Given the description of an element on the screen output the (x, y) to click on. 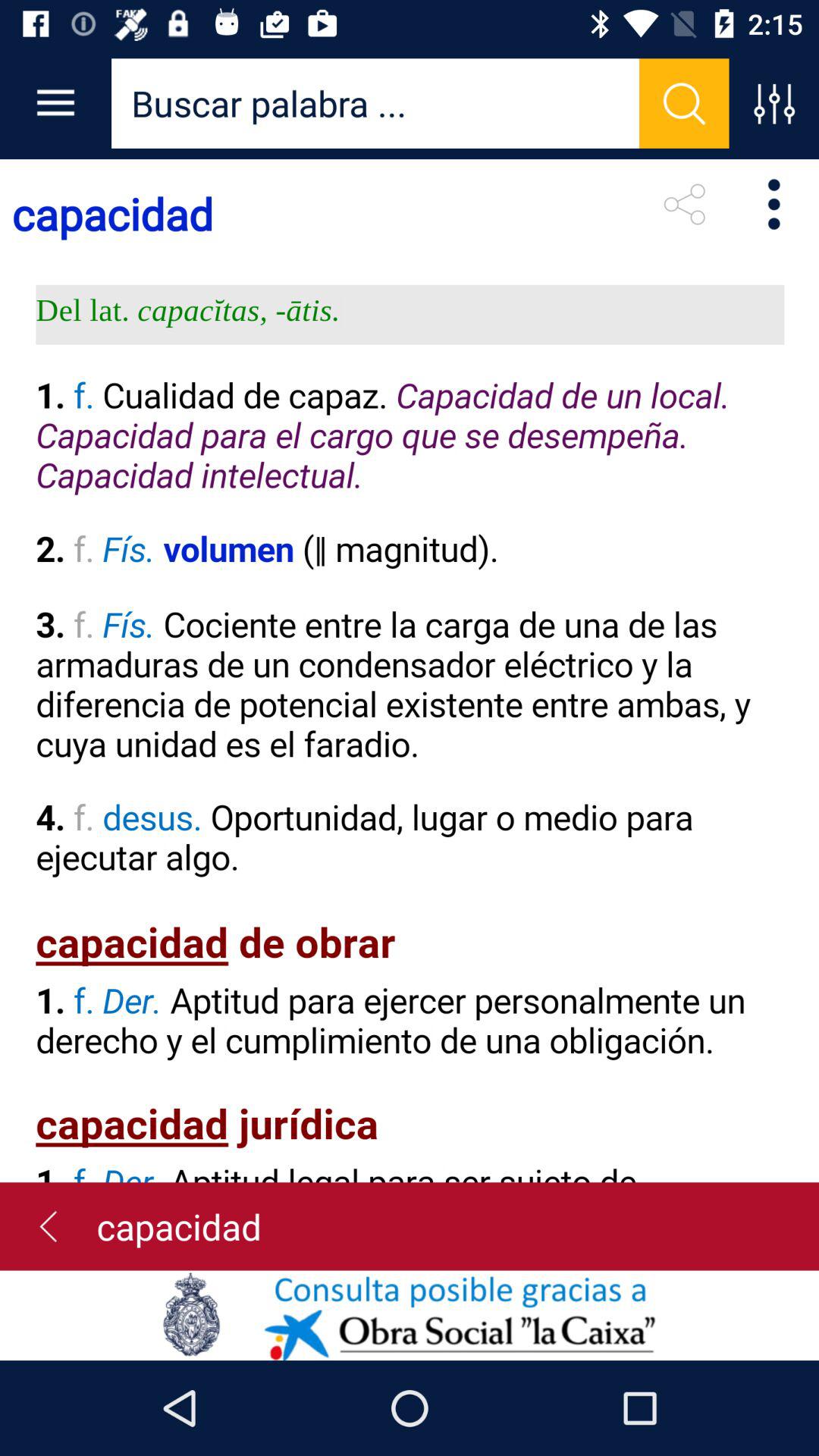
share (684, 204)
